Given the description of an element on the screen output the (x, y) to click on. 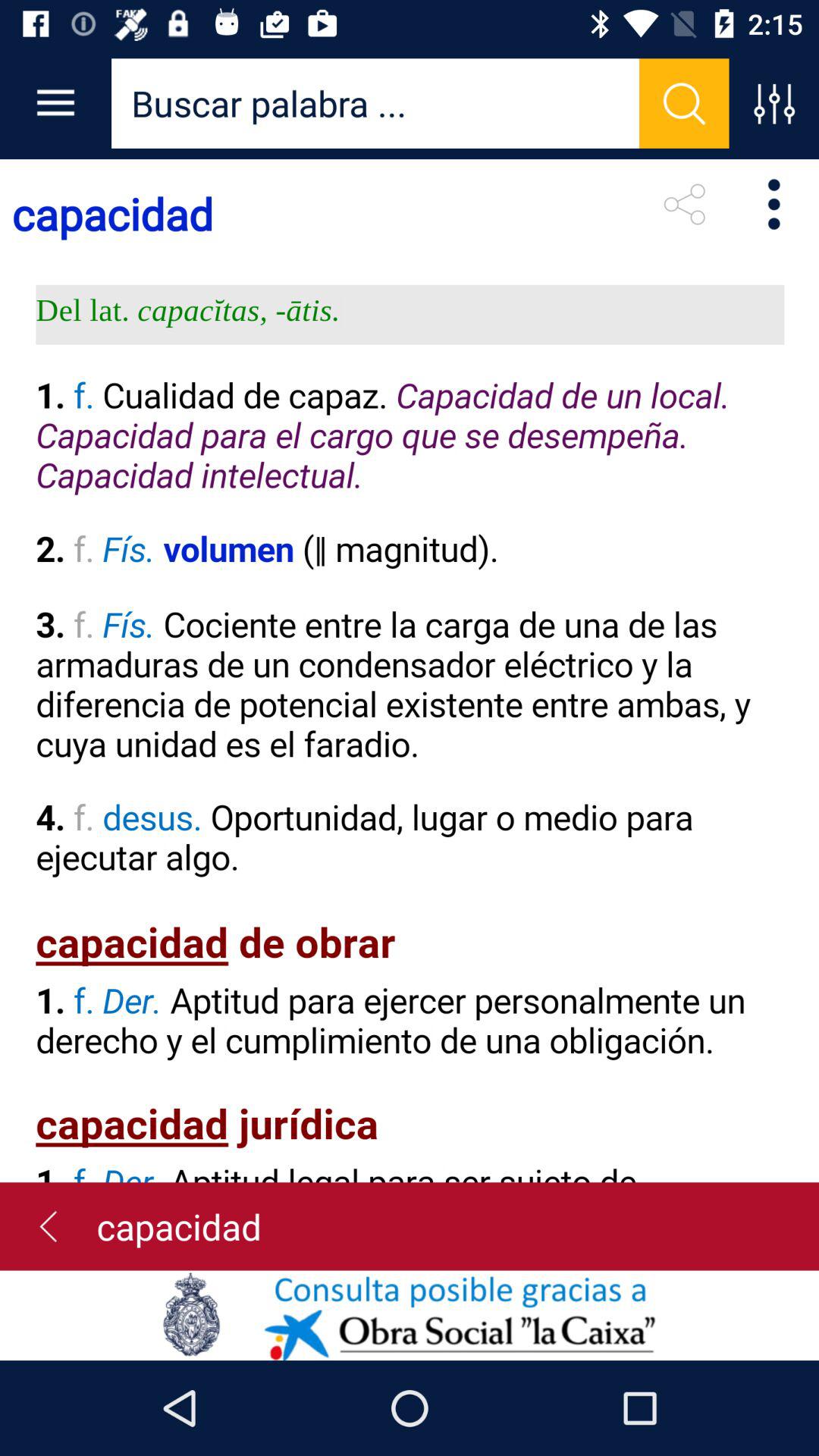
share (684, 204)
